Given the description of an element on the screen output the (x, y) to click on. 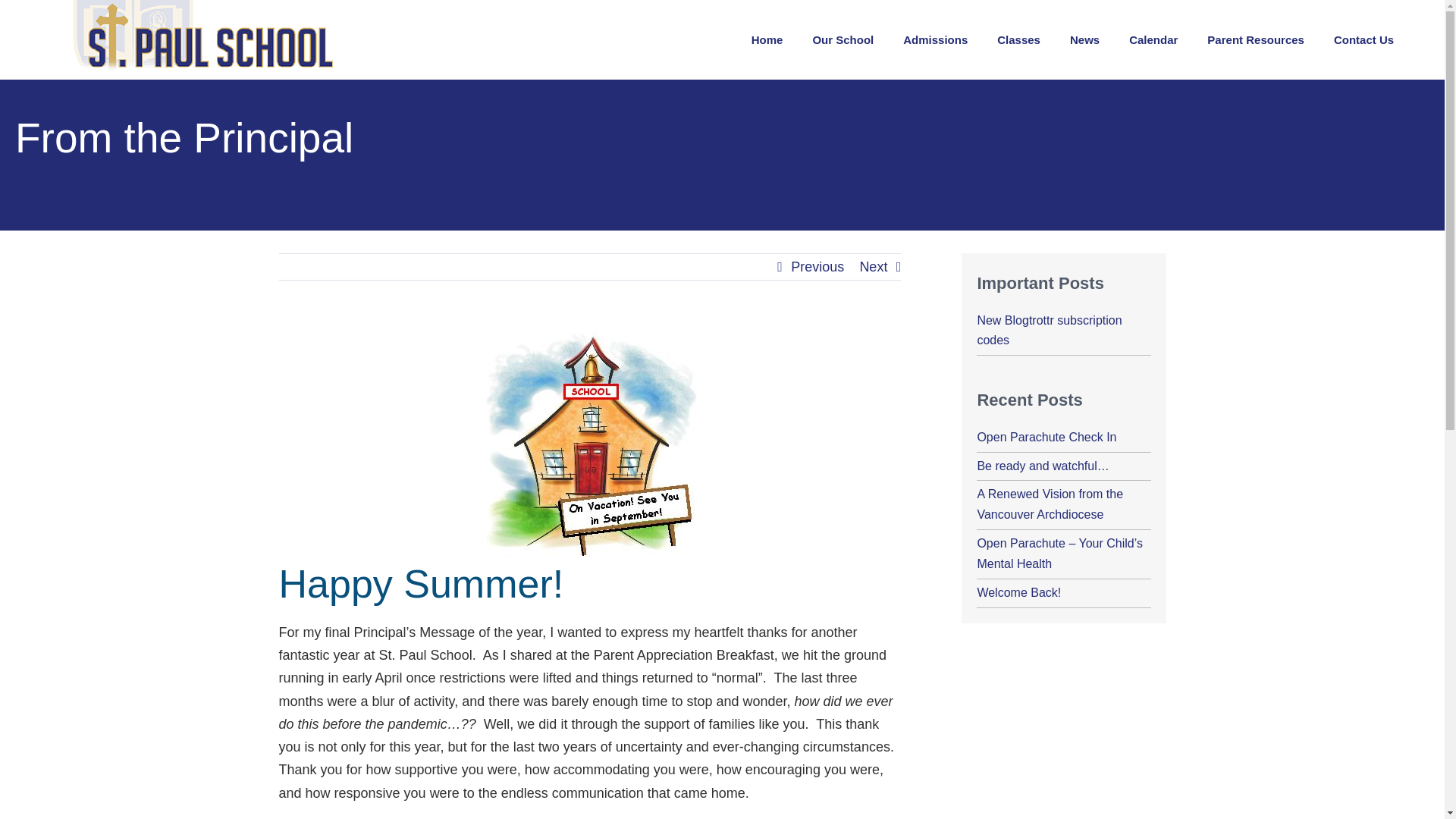
Next (872, 266)
Previous (817, 266)
Parent Resources (1255, 39)
